Given the description of an element on the screen output the (x, y) to click on. 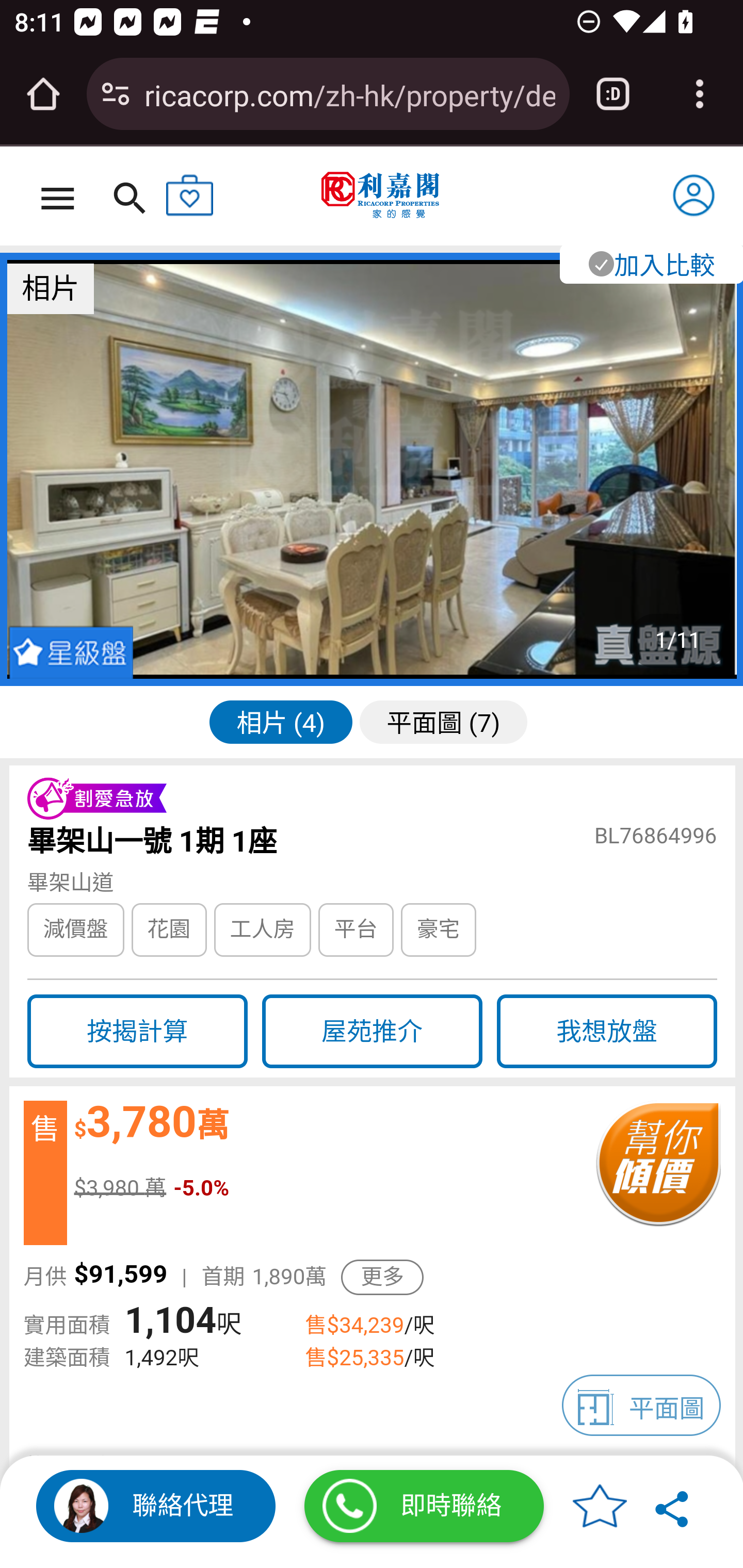
Open the home page (43, 93)
Connection is secure (115, 93)
Switch or close tabs (612, 93)
Customize and control Google Chrome (699, 93)
unchecked 加入比較 (650, 263)
按揭計算 (136, 1030)
屋苑推介 (371, 1030)
我想放盤 (606, 1030)
平面圖 (641, 1404)
Joyce Lam 聯絡代理 (156, 1505)
whatsapp 即時聯絡 (424, 1505)
Share button (672, 1505)
